Given the description of an element on the screen output the (x, y) to click on. 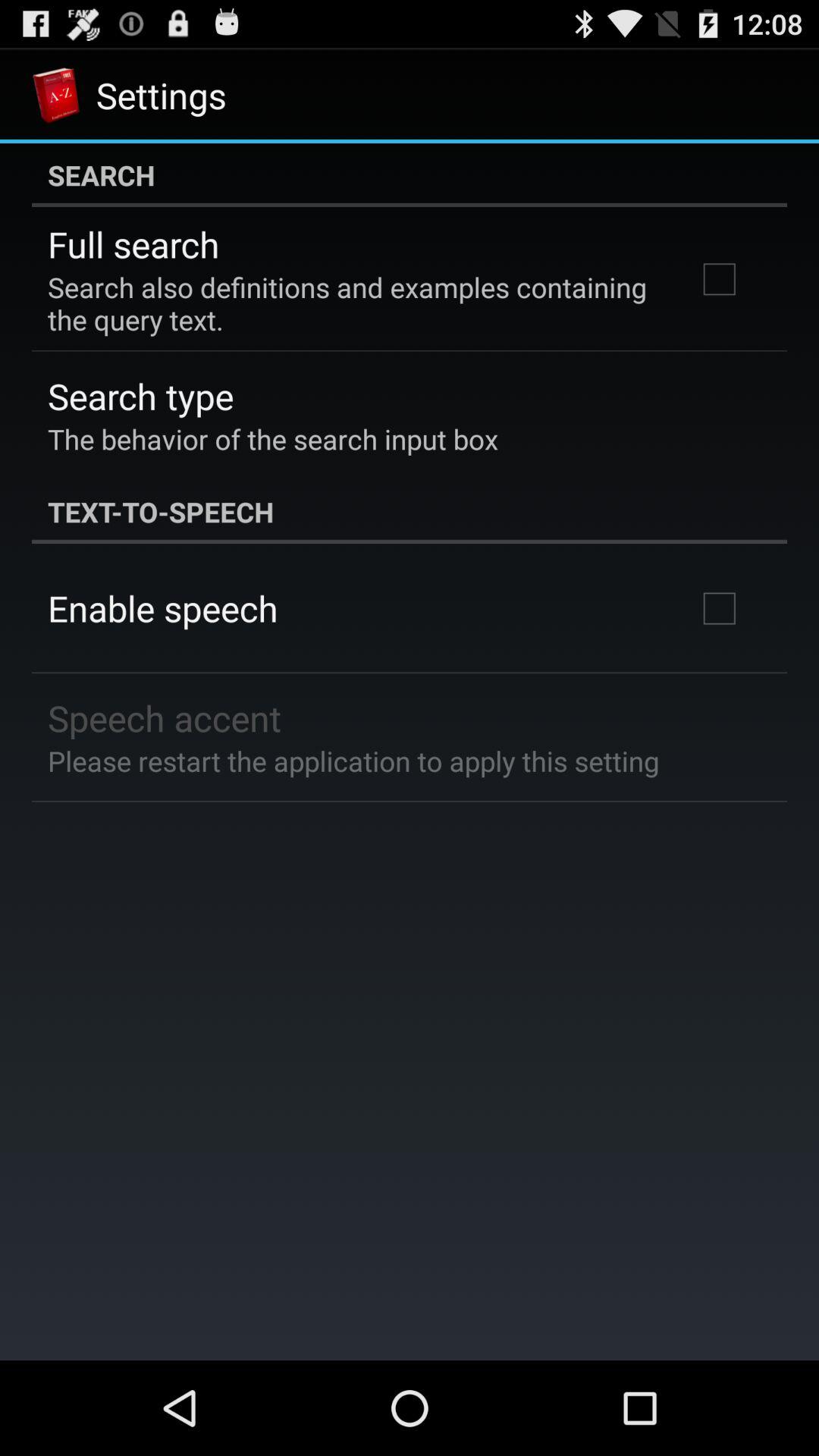
turn off item above the text-to-speech icon (272, 438)
